Given the description of an element on the screen output the (x, y) to click on. 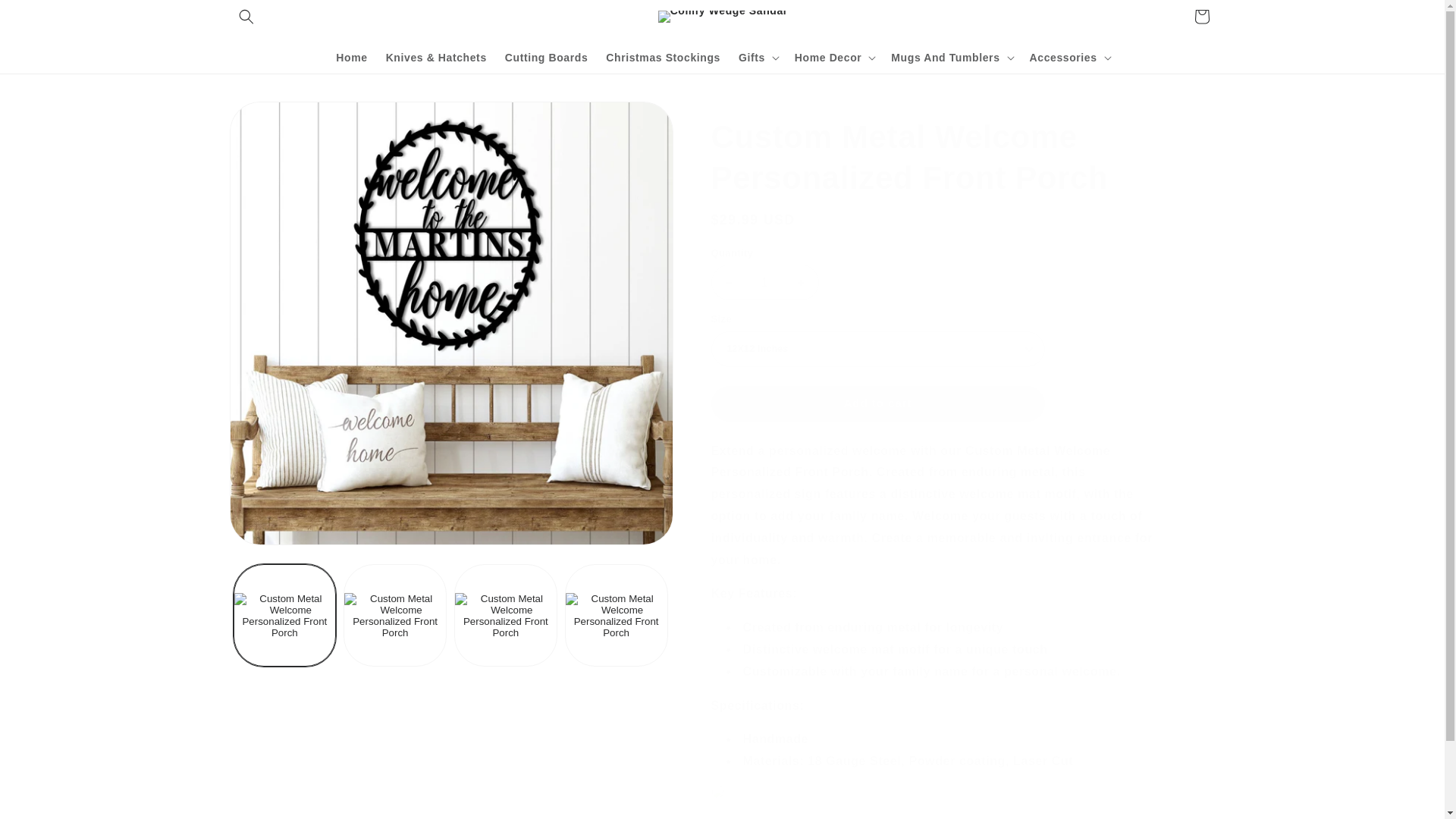
Cutting Boards (546, 56)
Skip to content (45, 17)
Christmas Stockings (662, 56)
Home (350, 56)
1 (764, 282)
